Given the description of an element on the screen output the (x, y) to click on. 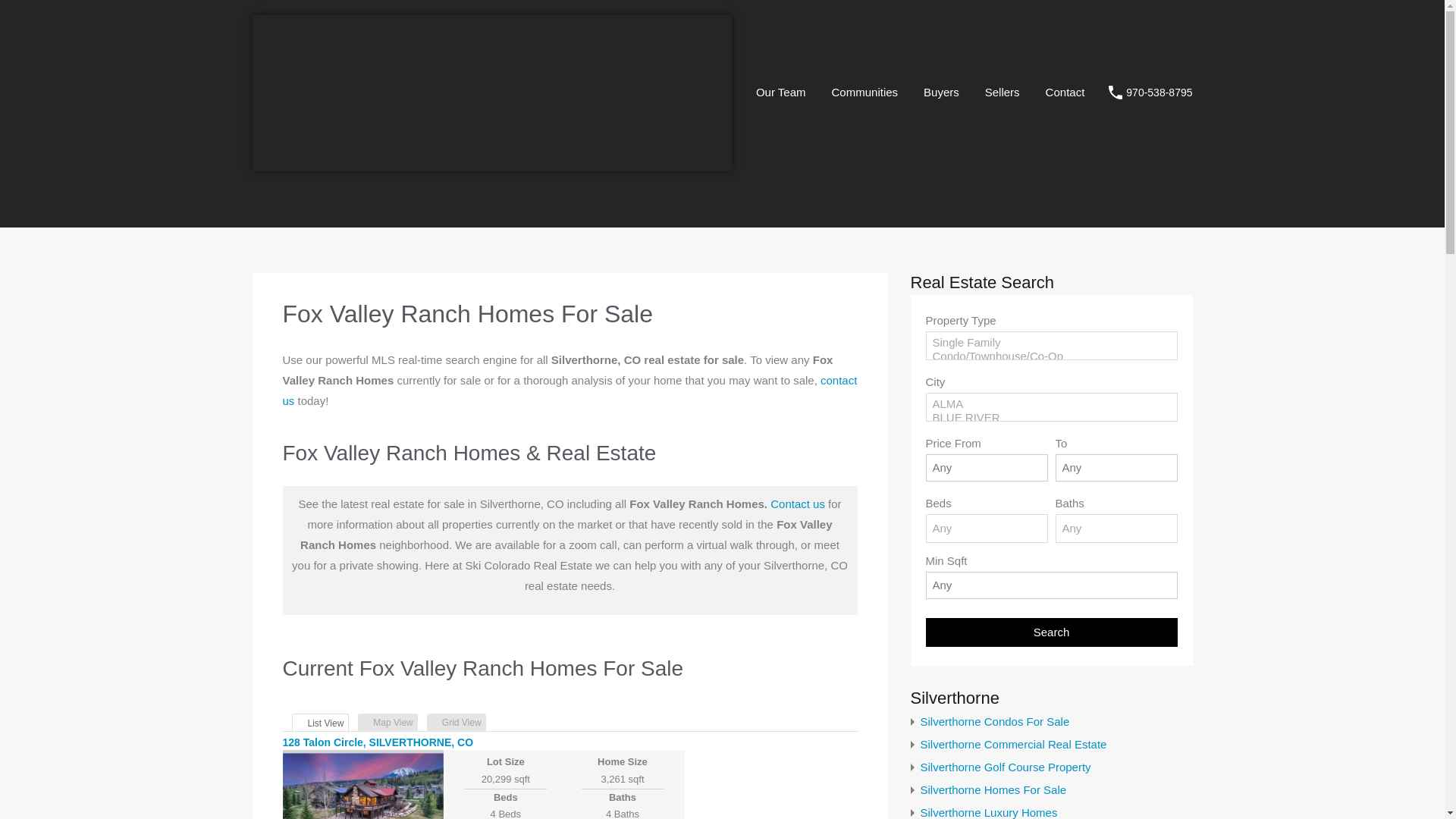
Sellers (1002, 92)
Buyers (941, 92)
Contact us (797, 503)
Search (1050, 632)
970-538-8795 (1158, 92)
Communities (864, 92)
Contact (1064, 92)
128 Talon Circle, SILVERTHORNE, CO (377, 741)
contact us (569, 389)
Ski Colorado Real Estate (490, 164)
Our Team (780, 92)
